Given the description of an element on the screen output the (x, y) to click on. 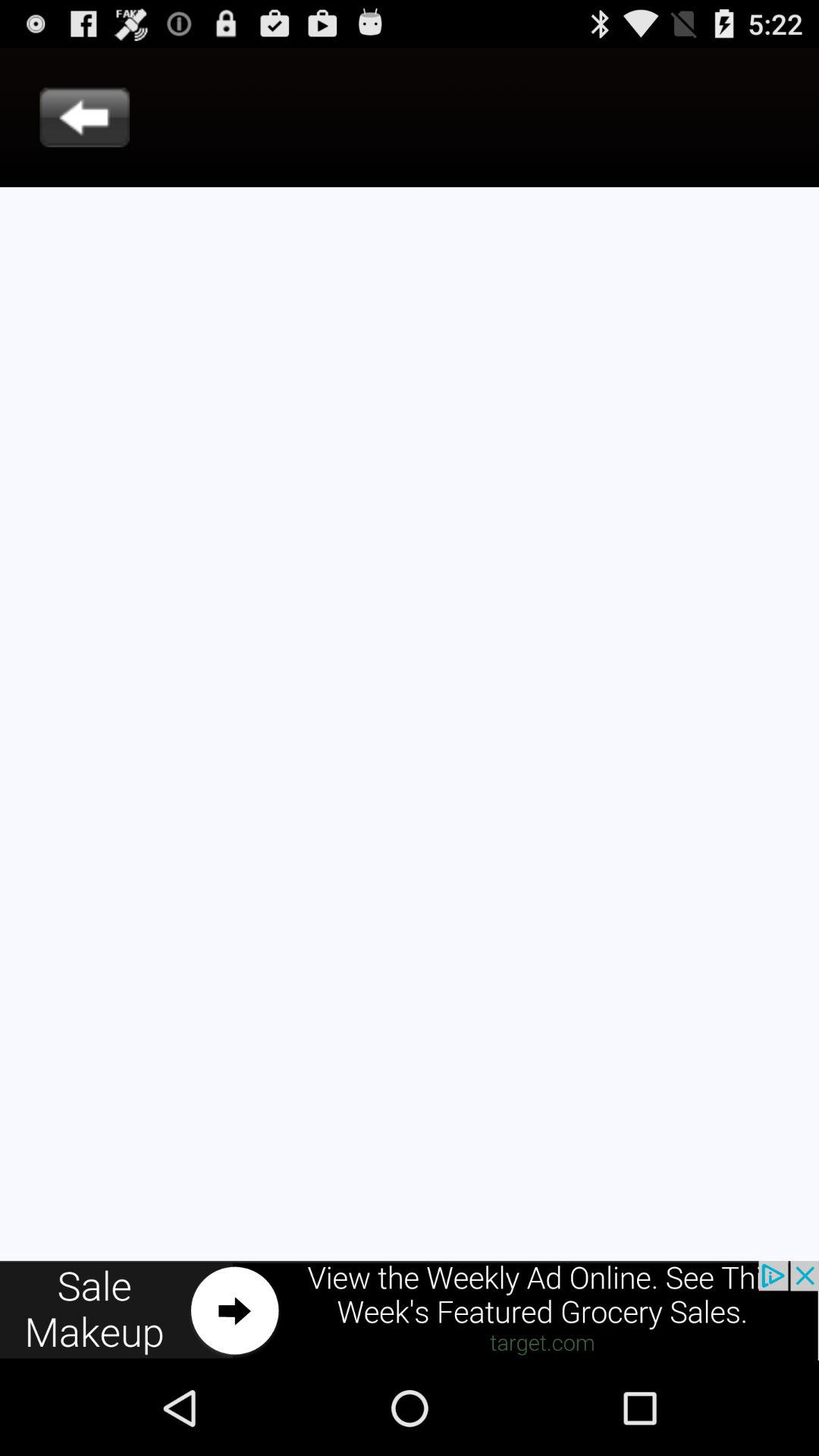
view advertisement (409, 1310)
